Given the description of an element on the screen output the (x, y) to click on. 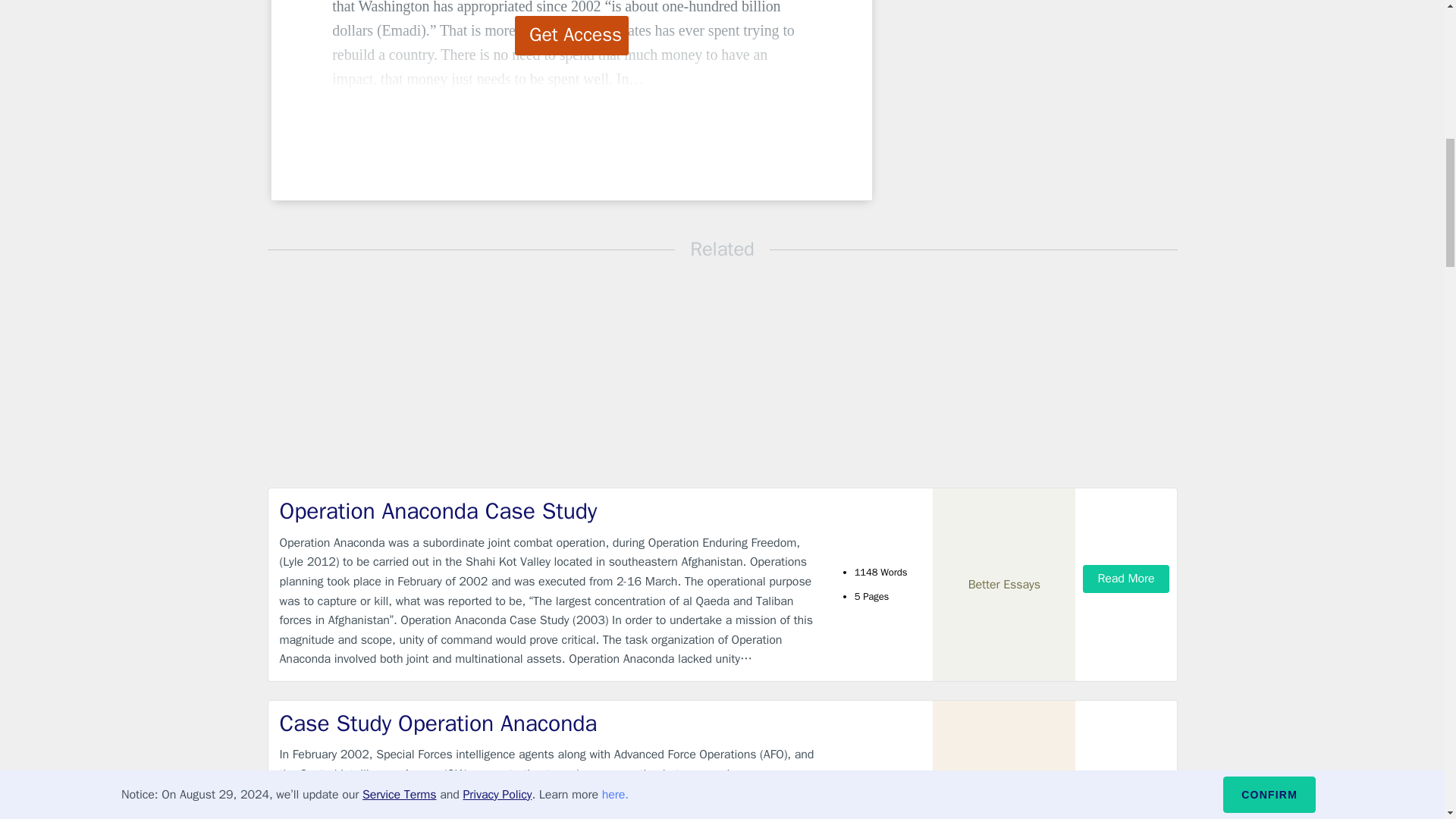
Read More (1126, 578)
Case Study Operation Anaconda (548, 723)
Get Access (571, 35)
Read More (1126, 807)
Operation Anaconda Case Study (548, 511)
